Given the description of an element on the screen output the (x, y) to click on. 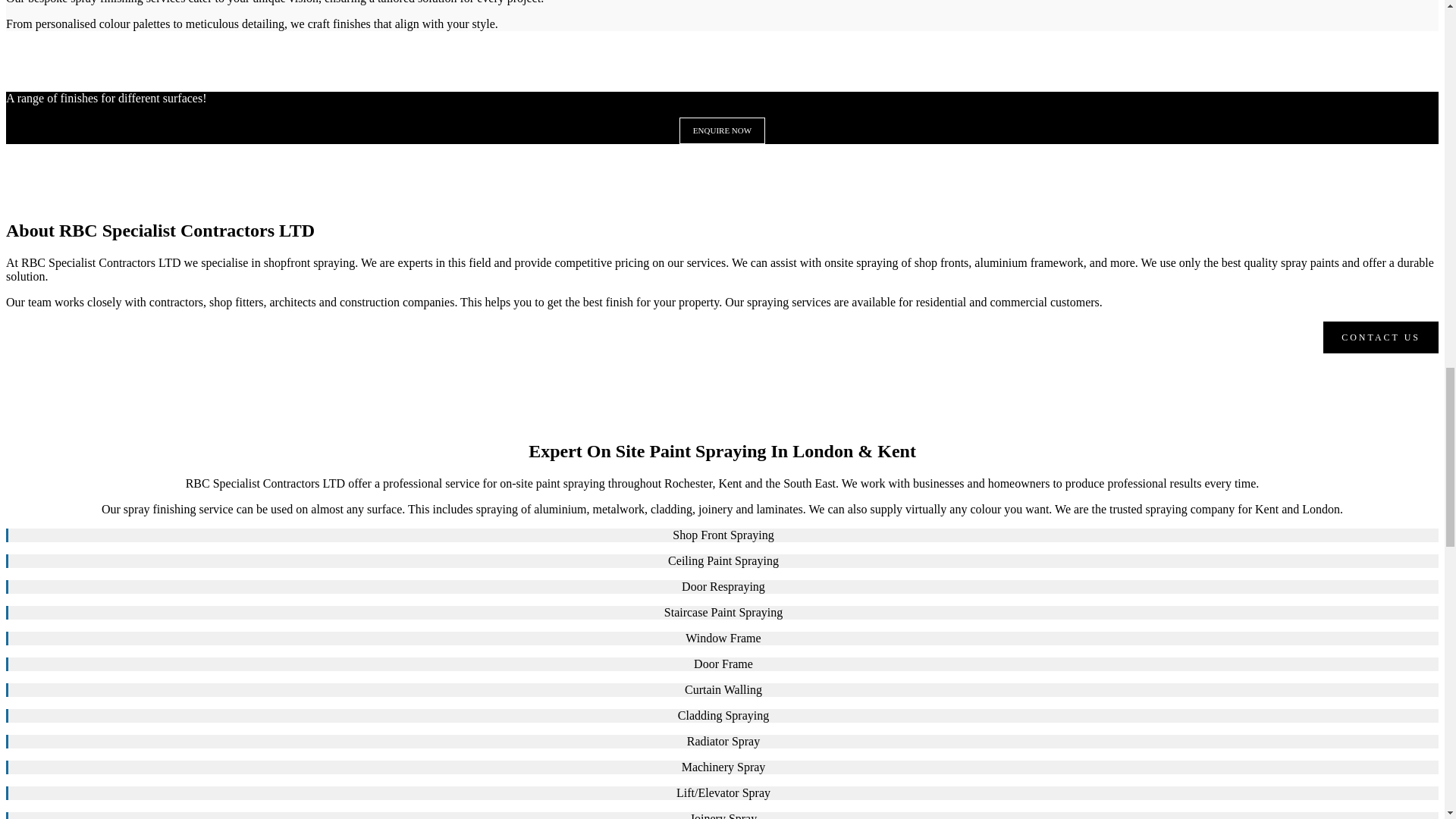
ENQUIRE NOW (722, 130)
